Given the description of an element on the screen output the (x, y) to click on. 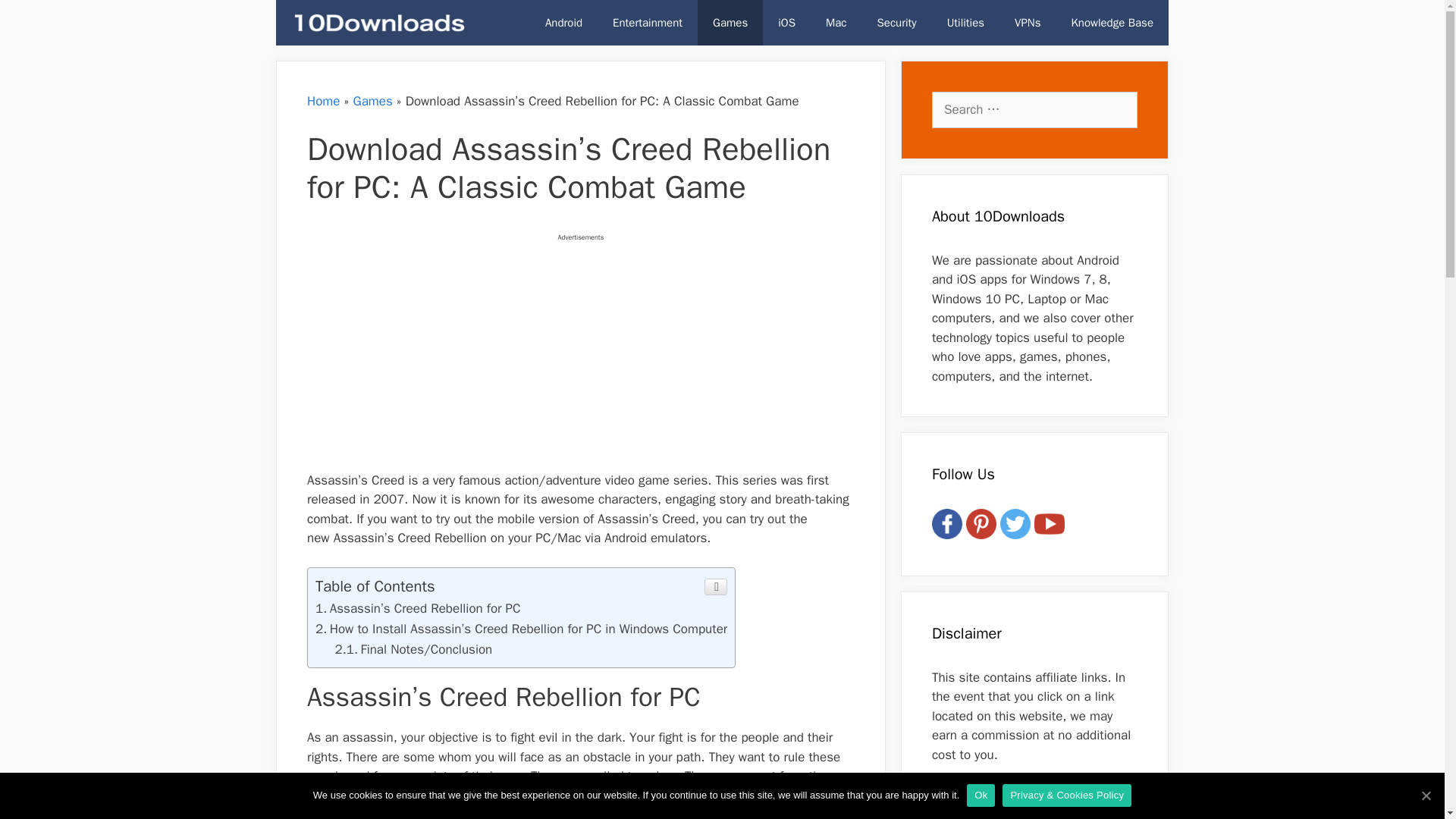
Advertisement (598, 359)
Mac (835, 22)
Home (323, 100)
Android (562, 22)
Games (729, 22)
Utilities (964, 22)
Search for: (1034, 109)
Ok (980, 794)
Knowledge Base (1113, 22)
Security (896, 22)
